Given the description of an element on the screen output the (x, y) to click on. 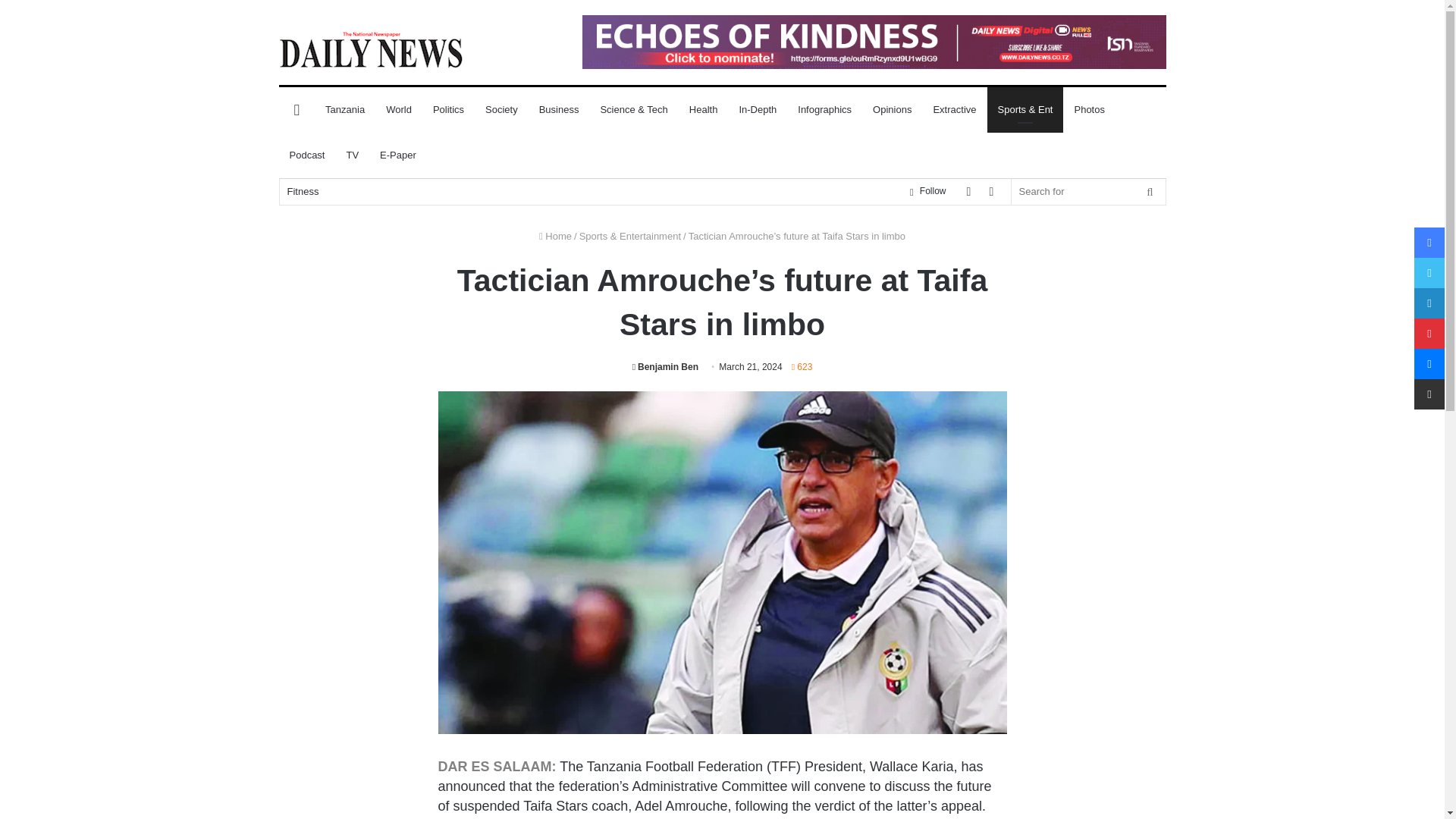
Business (558, 109)
Health (703, 109)
In-Depth (757, 109)
Daily News (371, 48)
Photos (1088, 109)
Follow (927, 191)
Opinions (891, 109)
World (398, 109)
Society (501, 109)
Infographics (824, 109)
Search for (1088, 191)
Politics (448, 109)
Extractive (954, 109)
Fitness (302, 191)
Podcast (307, 155)
